Given the description of an element on the screen output the (x, y) to click on. 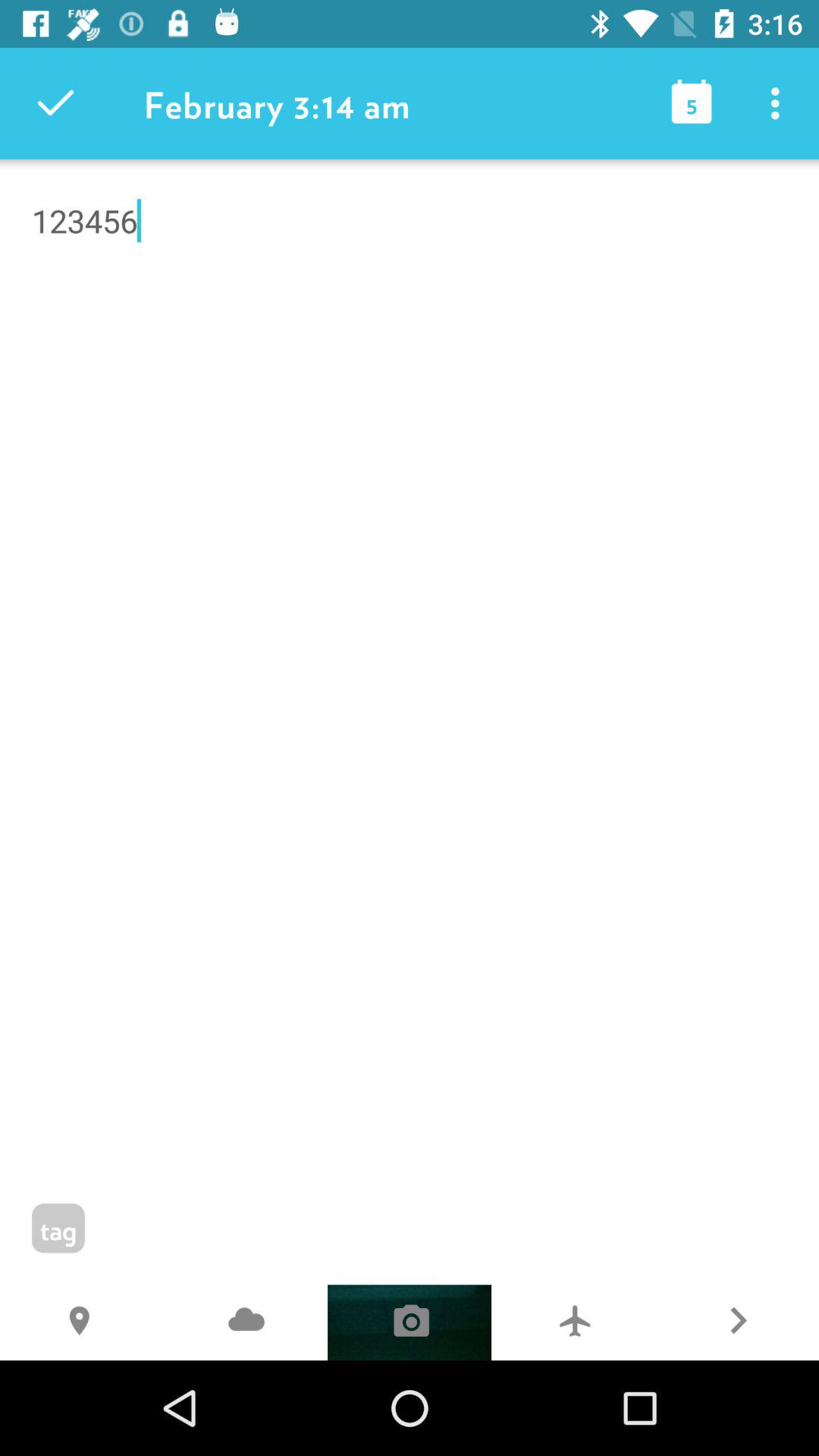
turn on the item next to h (245, 1322)
